Given the description of an element on the screen output the (x, y) to click on. 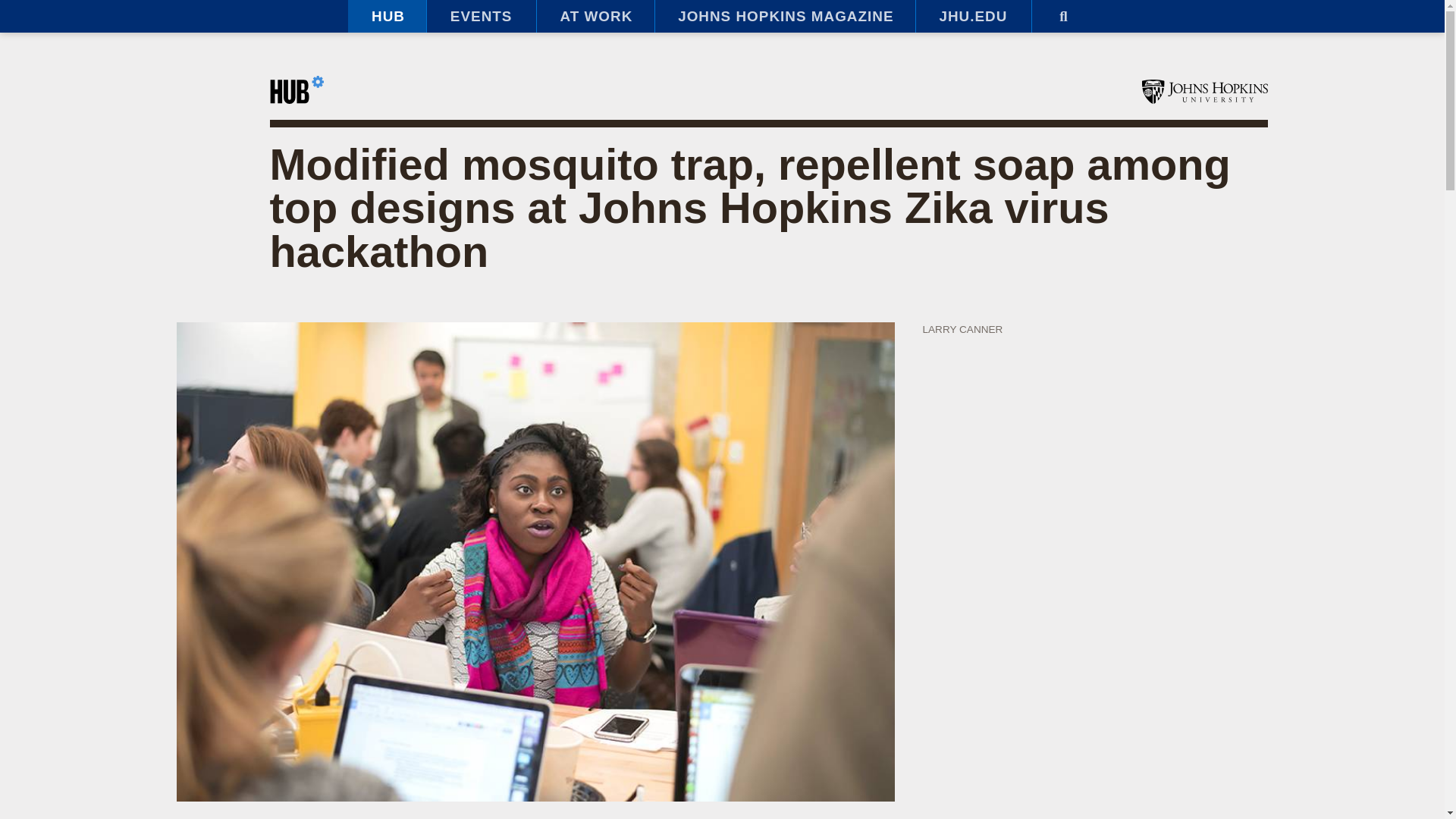
EVENTS (480, 16)
HUB (386, 16)
JOHNS HOPKINS MAGAZINE (784, 16)
AT WORK (594, 16)
JHU.EDU (972, 16)
Johns Hopkins University (1204, 91)
